Given the description of an element on the screen output the (x, y) to click on. 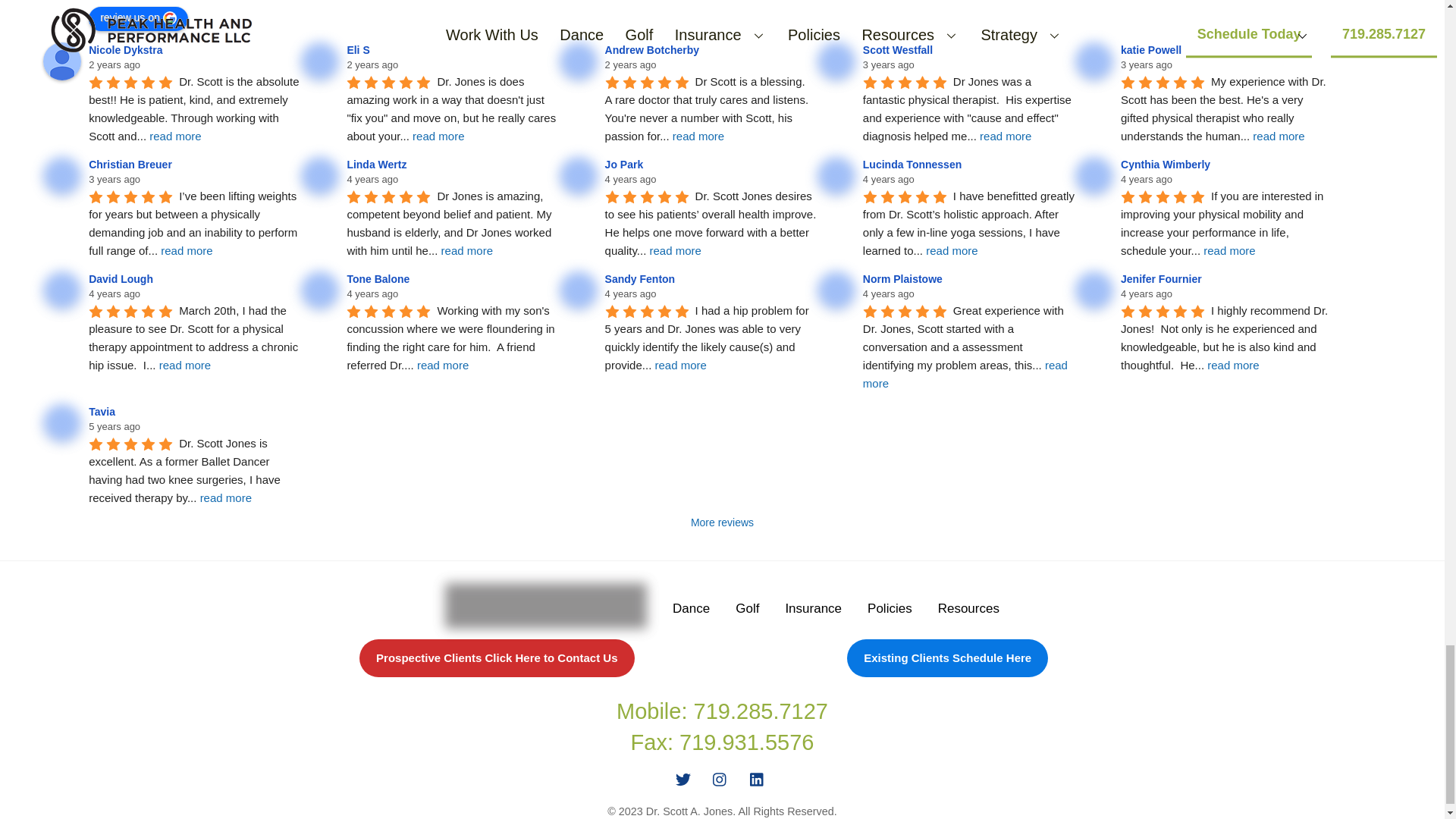
Nicole Dykstra (127, 50)
Nicole Dykstra (62, 61)
Tone Balone (320, 290)
Scott Westfall (900, 50)
David Lough (62, 290)
Sandy Fenton (577, 290)
Andrew Botcherby (577, 61)
Christian Breuer (62, 175)
Linda Wertz (320, 175)
Andrew Botcherby (654, 50)
Lucinda Tonnessen (836, 175)
Jo Park (577, 175)
Christian Breuer (132, 164)
Eli S (320, 61)
Eli S (360, 50)
